Given the description of an element on the screen output the (x, y) to click on. 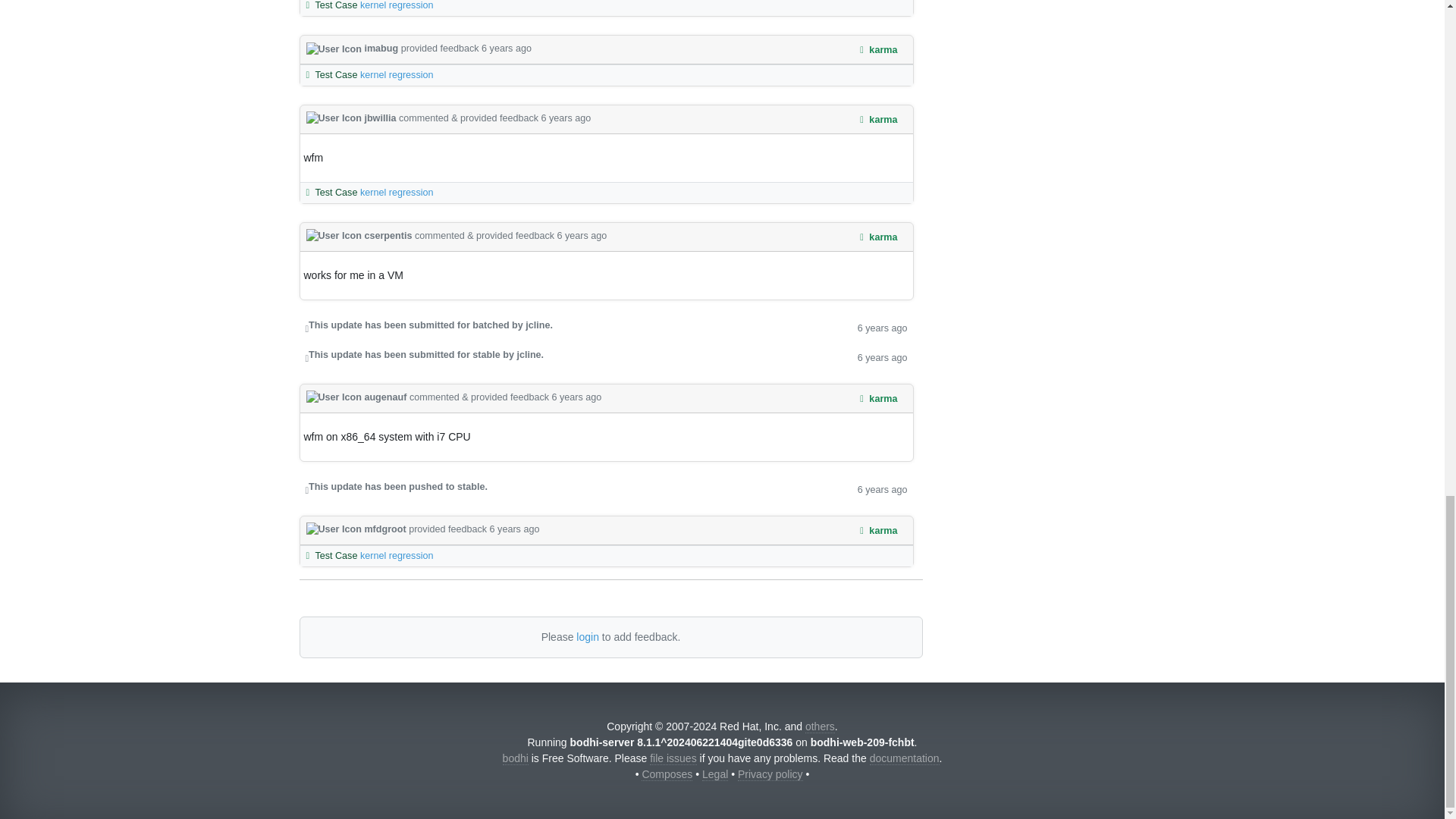
6 years ago (506, 48)
kernel regression (396, 5)
kernel regression (396, 74)
6 years ago (566, 118)
jbwillia (351, 118)
imabug (353, 48)
